Given the description of an element on the screen output the (x, y) to click on. 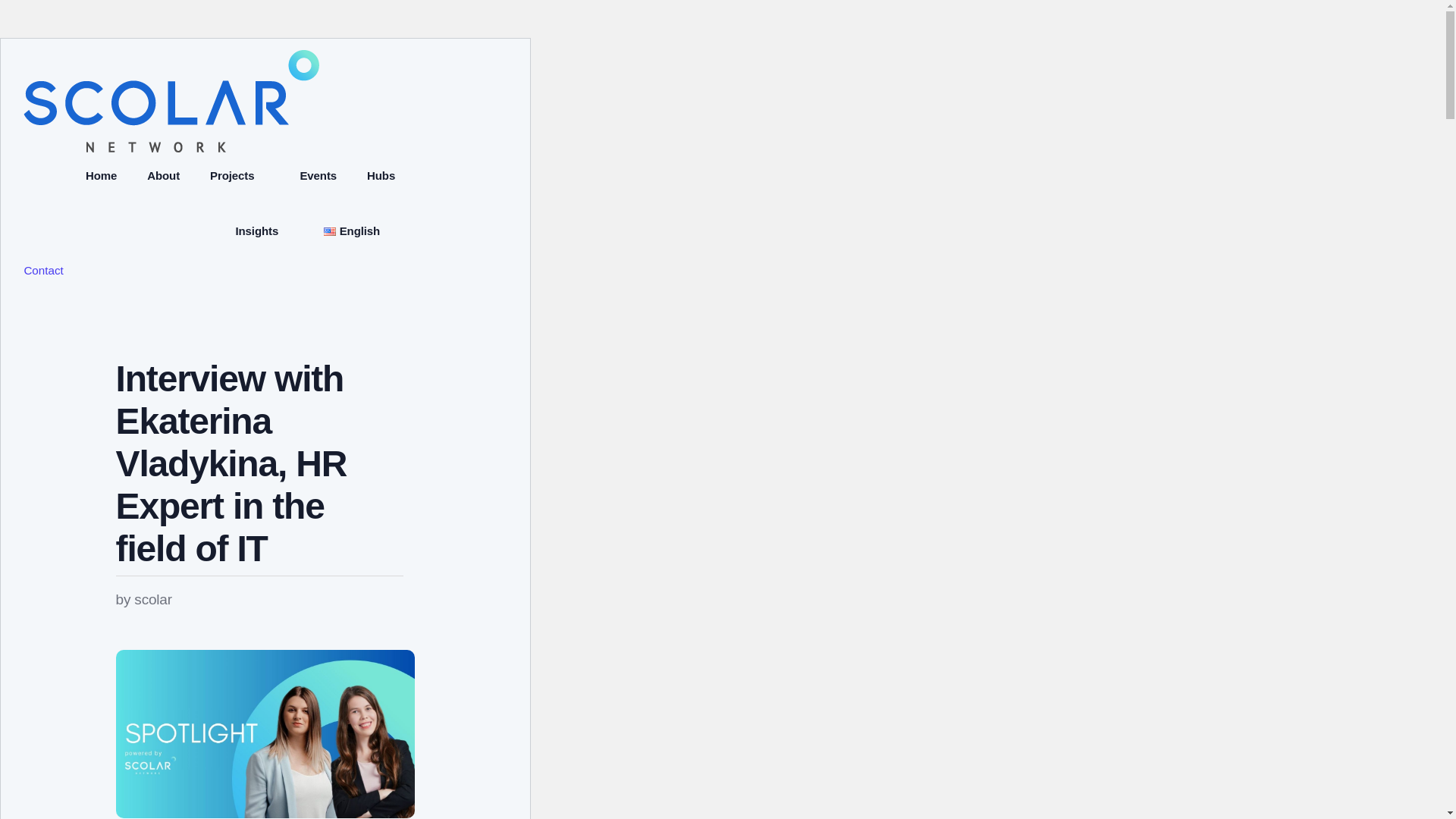
About (163, 175)
Contact (42, 271)
Home (100, 175)
English (359, 231)
Events (317, 175)
scolar (152, 599)
Insights (263, 231)
Hubs (381, 175)
Projects (239, 175)
